Given the description of an element on the screen output the (x, y) to click on. 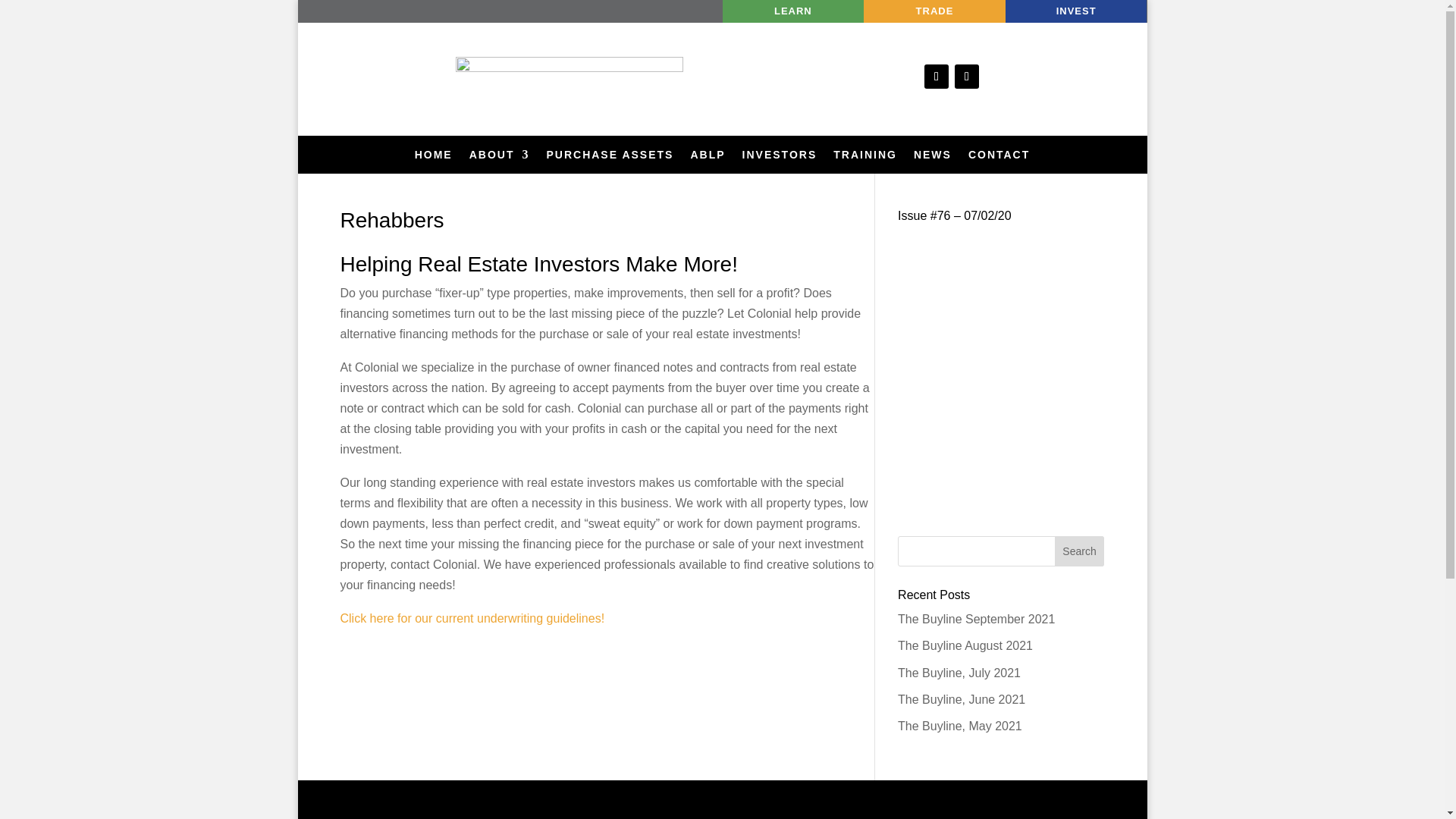
Search (1079, 551)
Click here for our current underwriting guidelines! (471, 617)
NEWS (933, 157)
HOME (433, 157)
TRADE (934, 11)
Search (1079, 551)
ABLP (707, 157)
Follow on LinkedIn (966, 76)
CONTACT (998, 157)
PURCHASE ASSETS (609, 157)
The Buyline, July 2021 (959, 672)
ABOUT (498, 157)
The Buyline September 2021 (976, 618)
INVESTORS (779, 157)
TRAINING (864, 157)
